Given the description of an element on the screen output the (x, y) to click on. 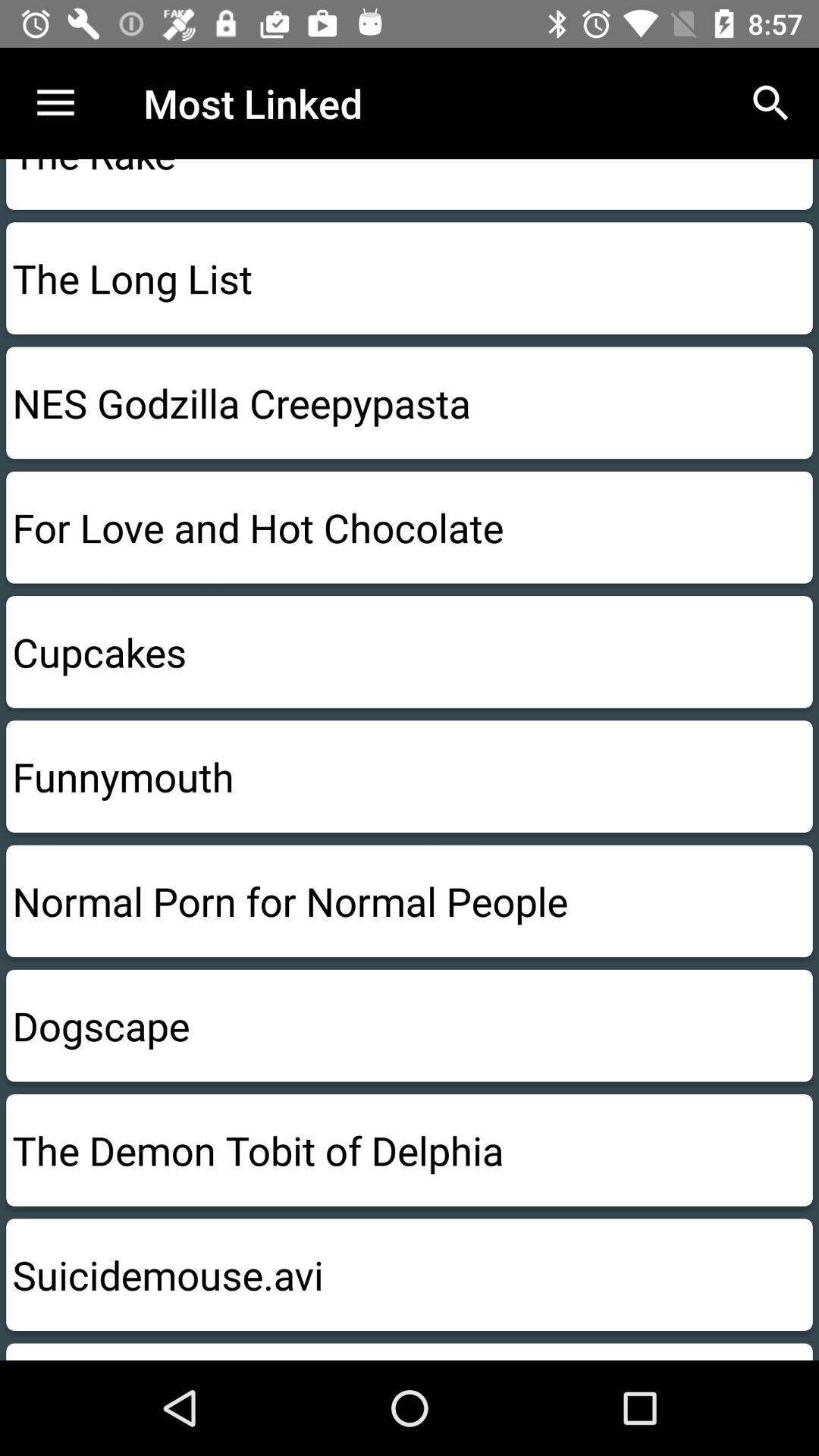
launch the icon to the right of most linked (771, 103)
